Given the description of an element on the screen output the (x, y) to click on. 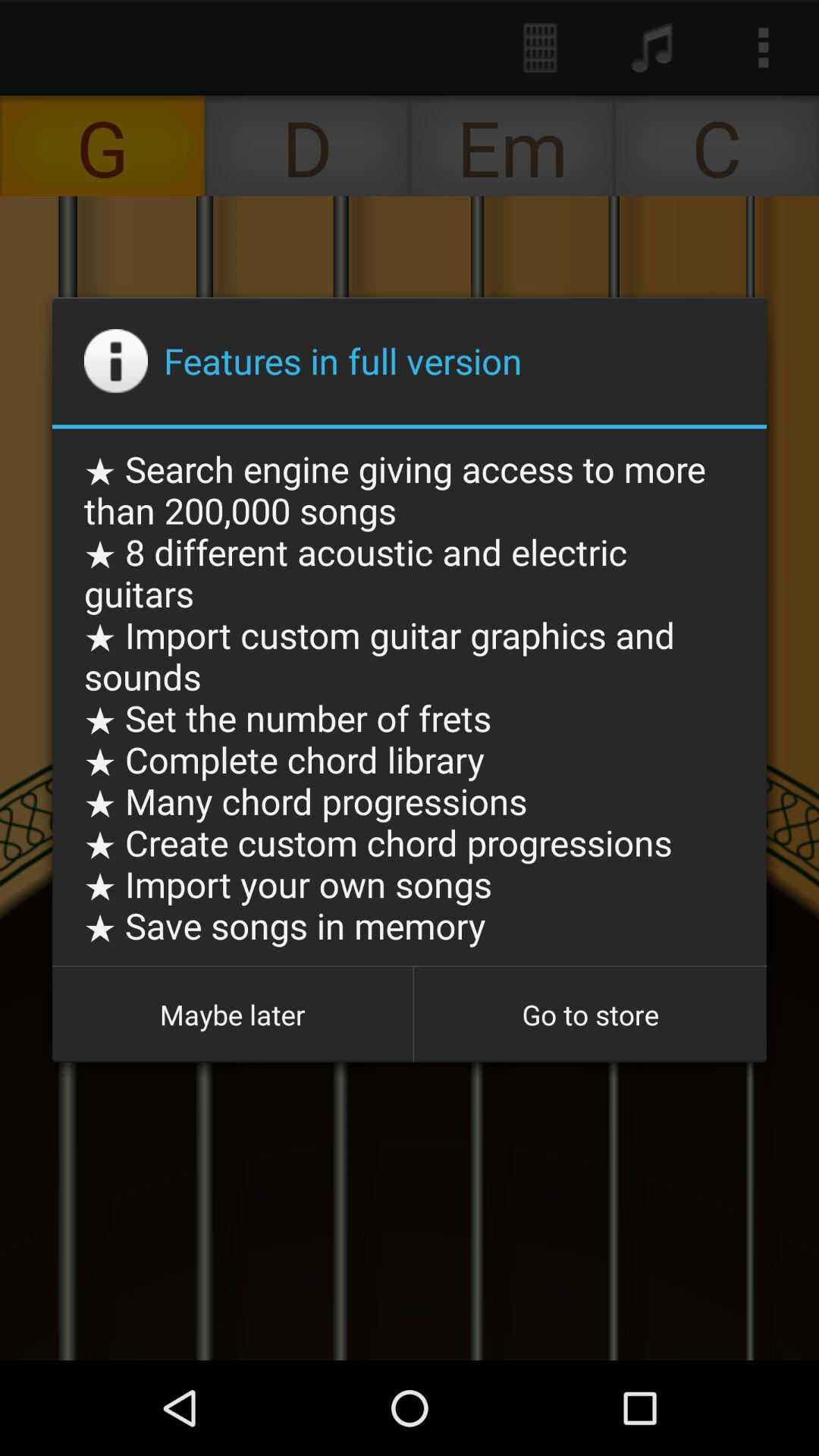
launch the item to the left of go to store icon (232, 1014)
